Given the description of an element on the screen output the (x, y) to click on. 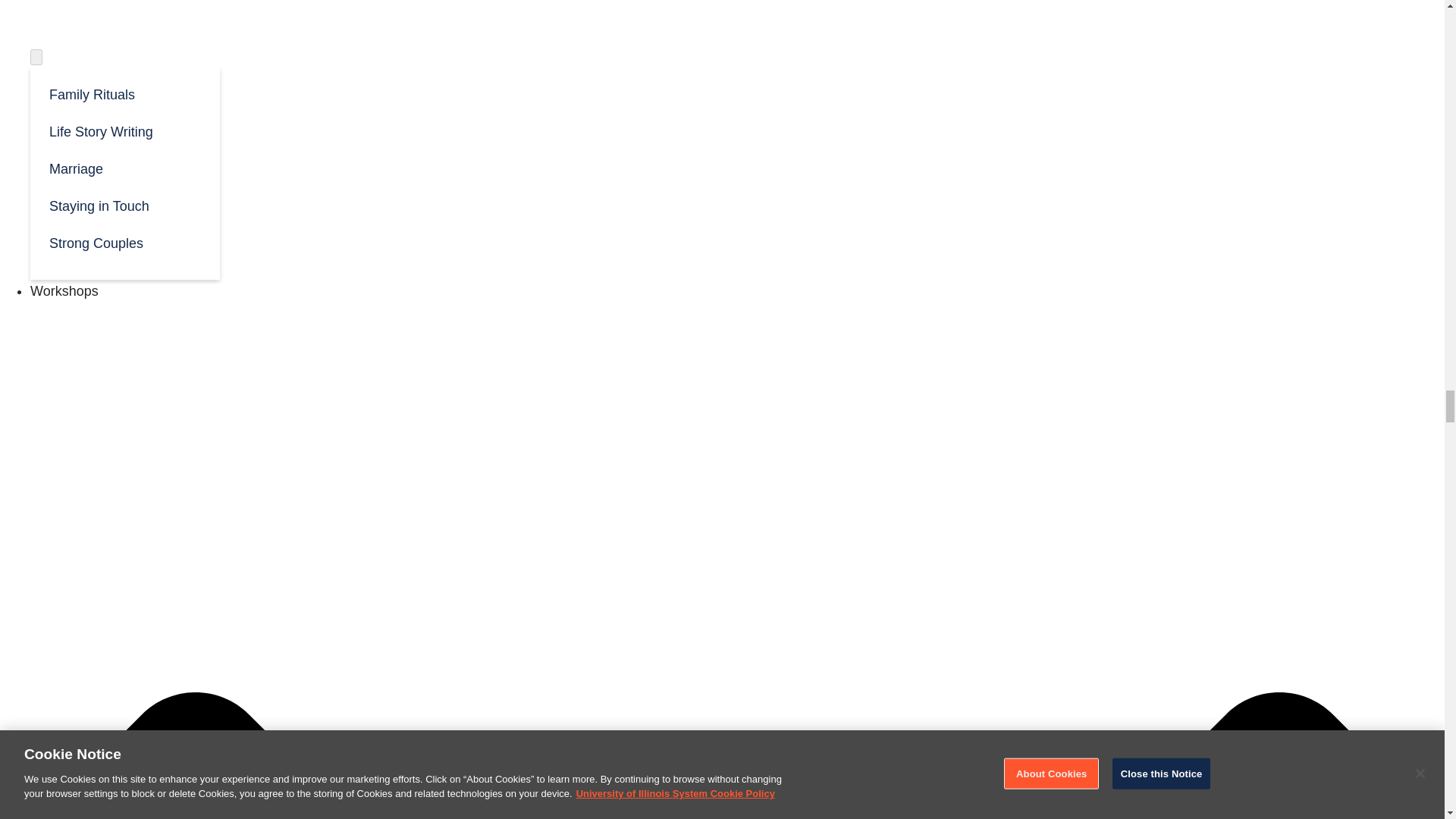
Workshops (64, 290)
Staying in Touch (125, 204)
Family Rituals (125, 93)
Marriage (125, 167)
Strong Couples (125, 242)
Life Story Writing (125, 130)
